Given the description of an element on the screen output the (x, y) to click on. 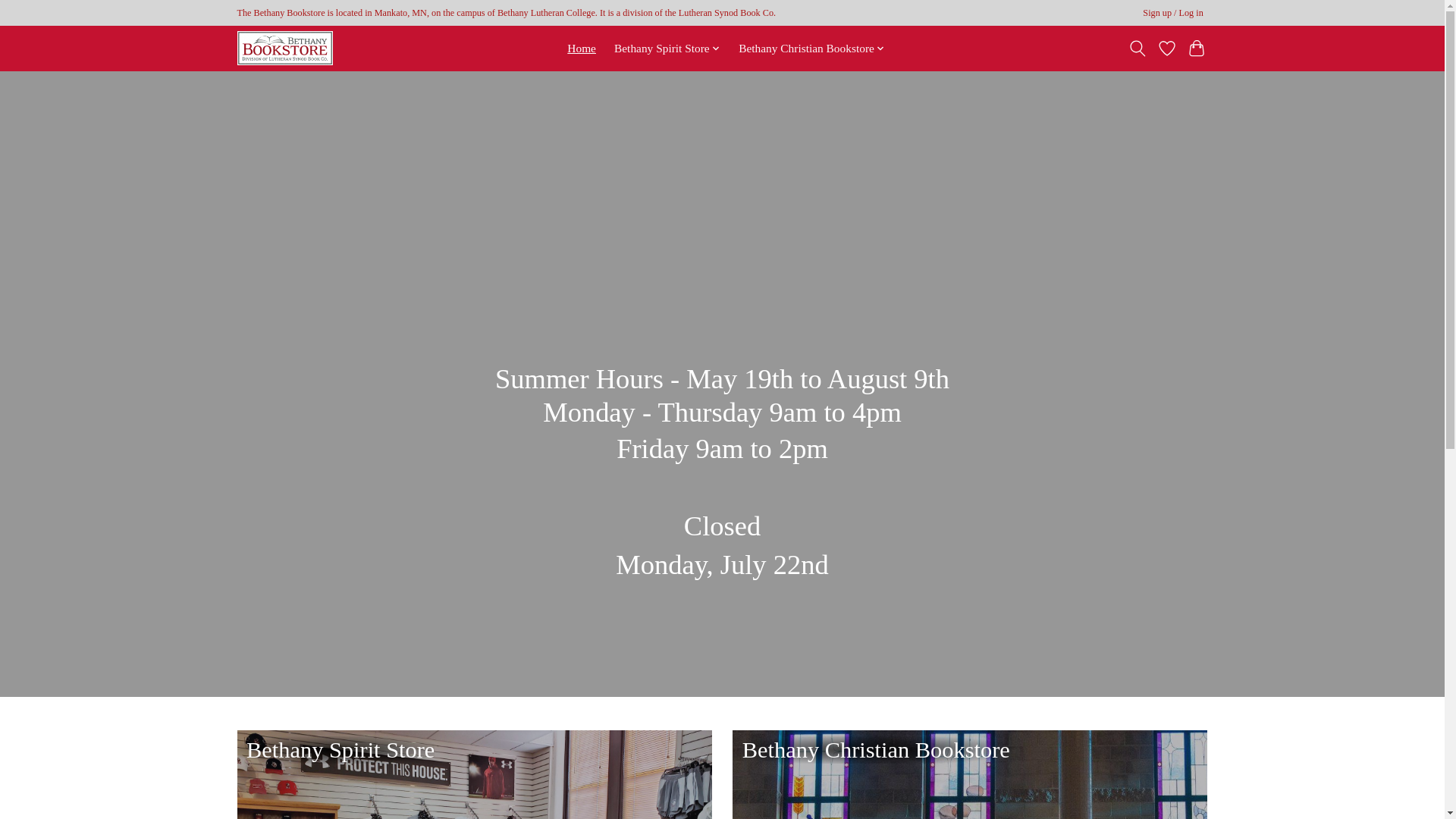
Bethany Christian Bookstore (812, 47)
 Bethany Lutheran College Bookstore (284, 48)
Bethany Spirit Store (667, 47)
My account (1173, 13)
Home (581, 47)
